Given the description of an element on the screen output the (x, y) to click on. 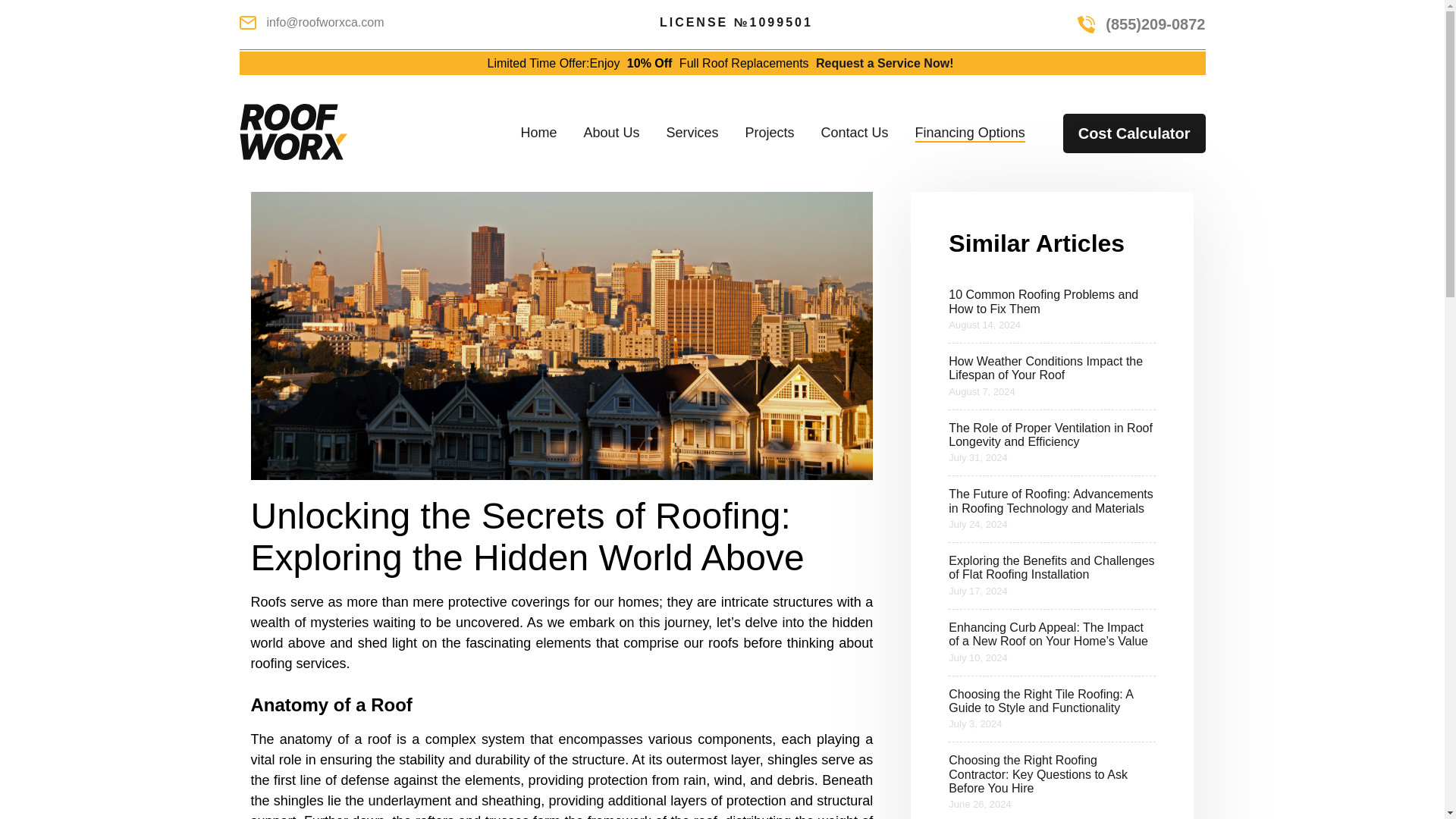
Cost Calculator (1133, 133)
Contact Us (854, 132)
Services (691, 132)
10 Common Roofing Problems and How to Fix Them (1043, 301)
Request a Service Now! (884, 62)
About Us (611, 132)
How Weather Conditions Impact the Lifespan of Your Roof (1045, 367)
